Given the description of an element on the screen output the (x, y) to click on. 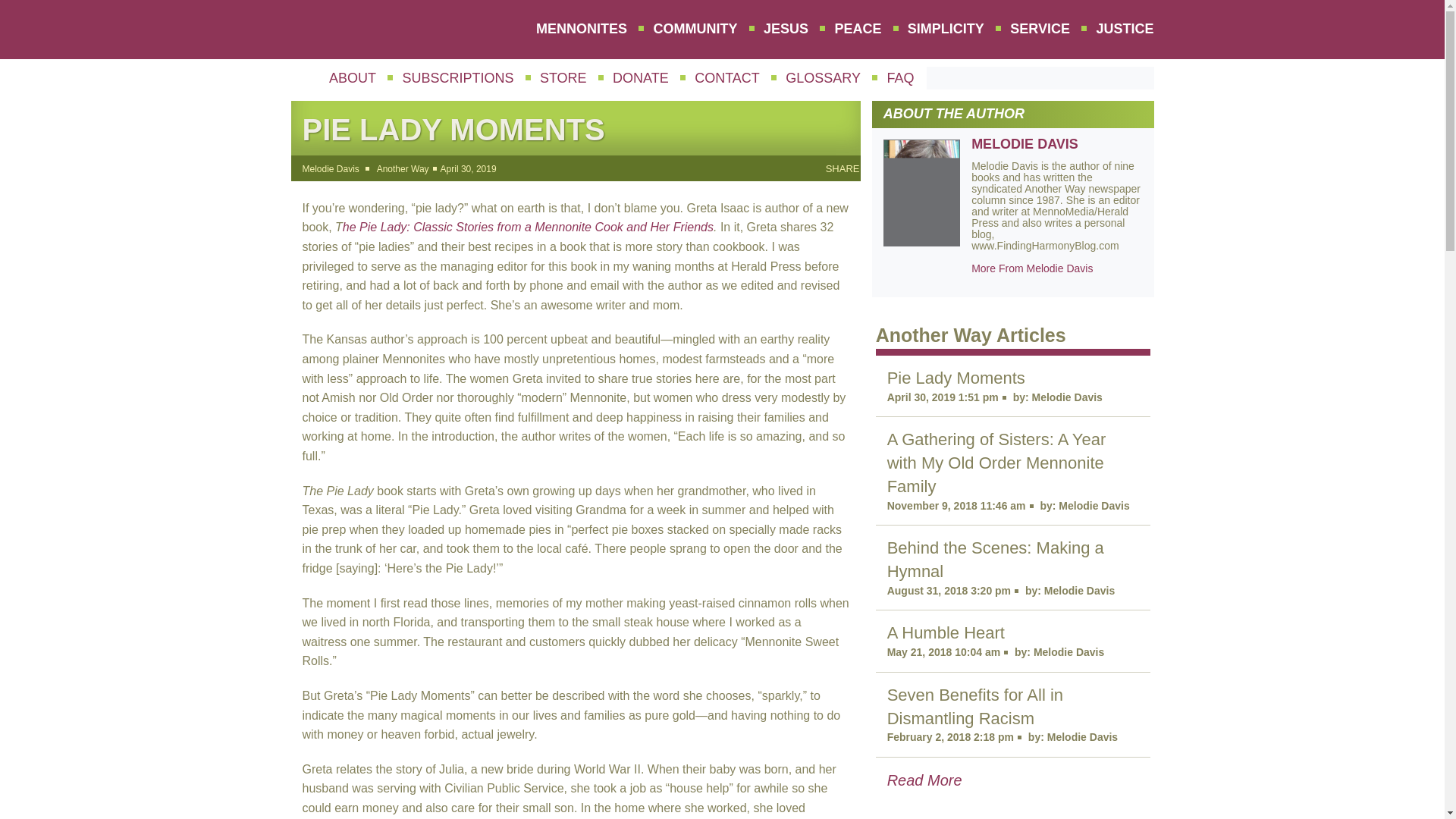
CONTACT (726, 78)
SHARE (842, 168)
ABOUT (352, 78)
Another Way (403, 168)
Third Way: Mennonite News (361, 31)
SIMPLICITY (945, 28)
SUBSCRIPTIONS (457, 78)
GLOSSARY (823, 78)
JESUS (785, 28)
